Given the description of an element on the screen output the (x, y) to click on. 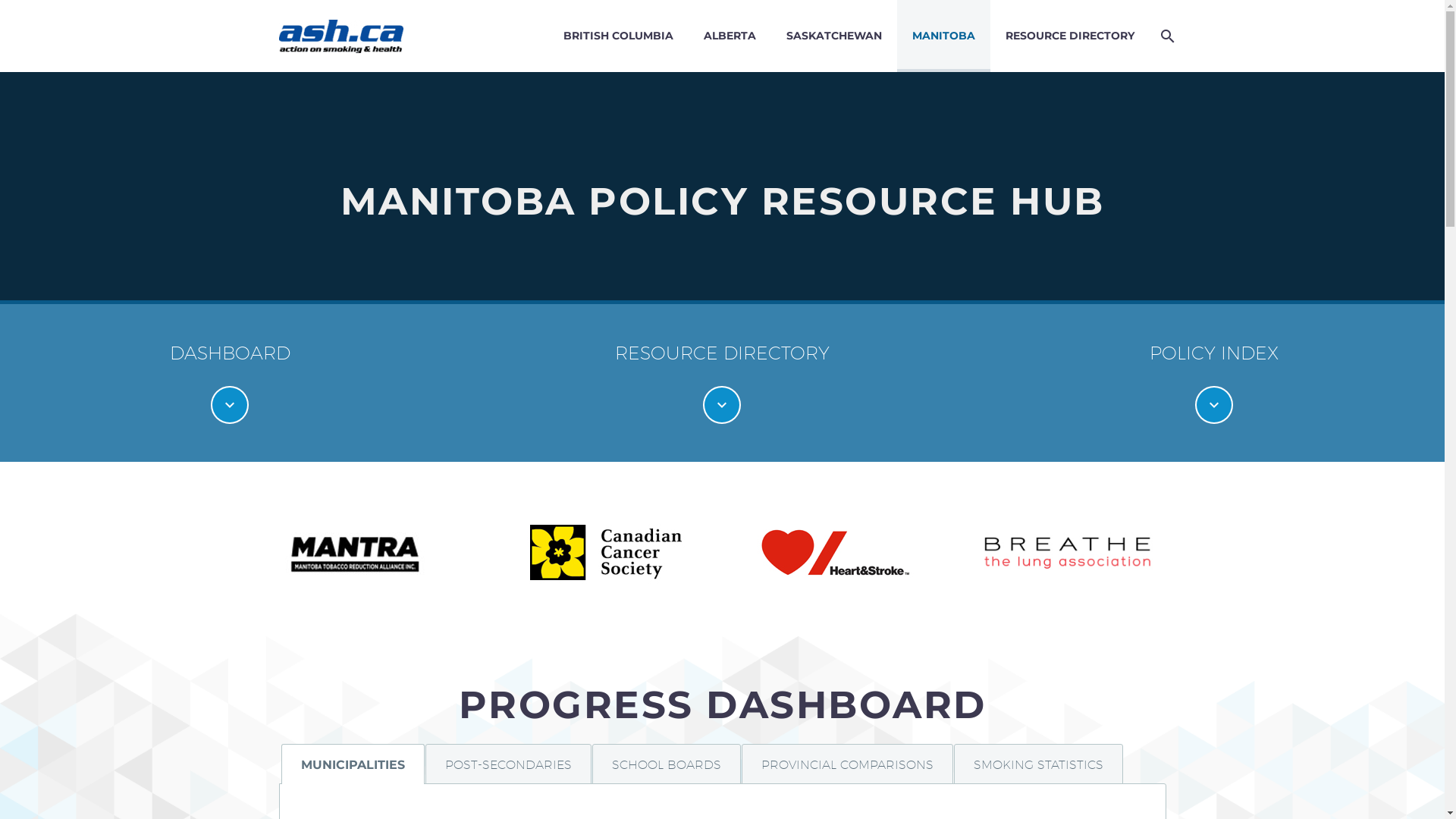
MUNICIPALITIES Element type: text (351, 763)
RESOURCE DIRECTORY Element type: text (1069, 36)
BRITISH COLUMBIA Element type: text (617, 36)
ALBERTA Element type: text (729, 36)
POST-SECONDARIES Element type: text (507, 763)
MANITOBA Element type: text (942, 36)
SMOKING STATISTICS Element type: text (1038, 763)
PROVINCIAL COMPARISONS Element type: text (847, 763)
SCHOOL BOARDS Element type: text (665, 763)
SASKATCHEWAN Element type: text (833, 36)
